Given the description of an element on the screen output the (x, y) to click on. 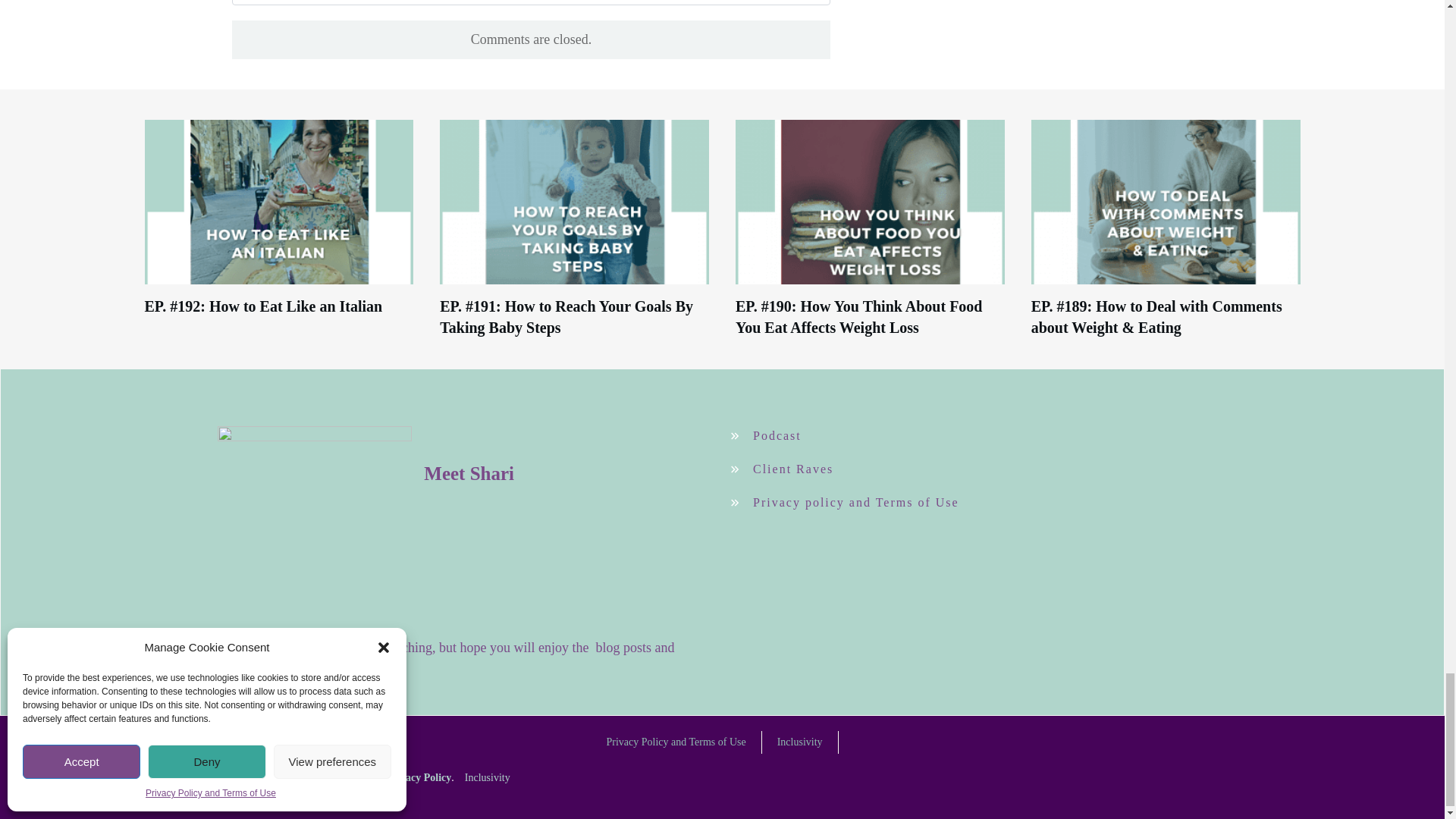
cropped-Shari-28-smaller.jpg (314, 522)
